Given the description of an element on the screen output the (x, y) to click on. 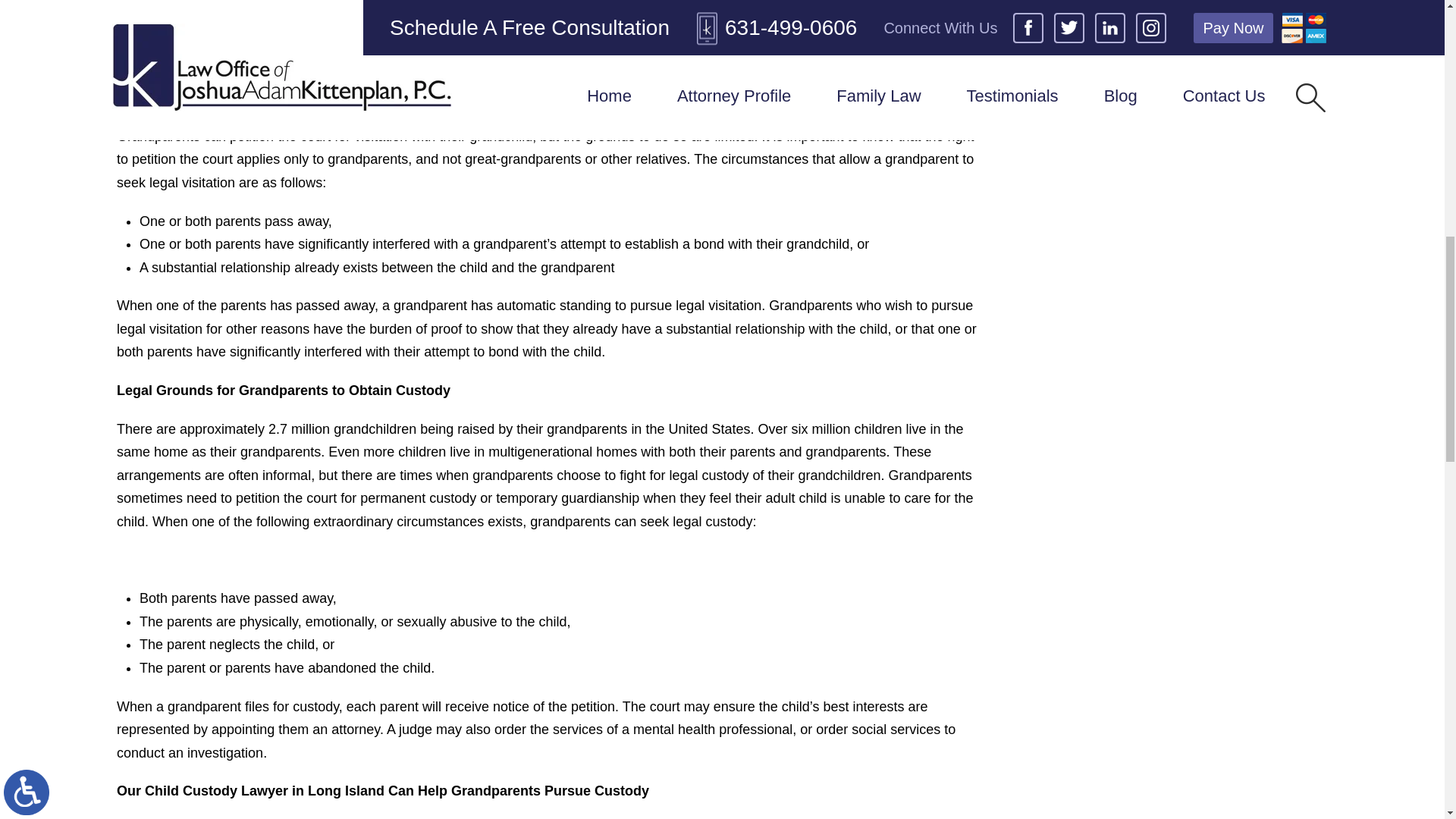
Grandparents (191, 12)
